Given the description of an element on the screen output the (x, y) to click on. 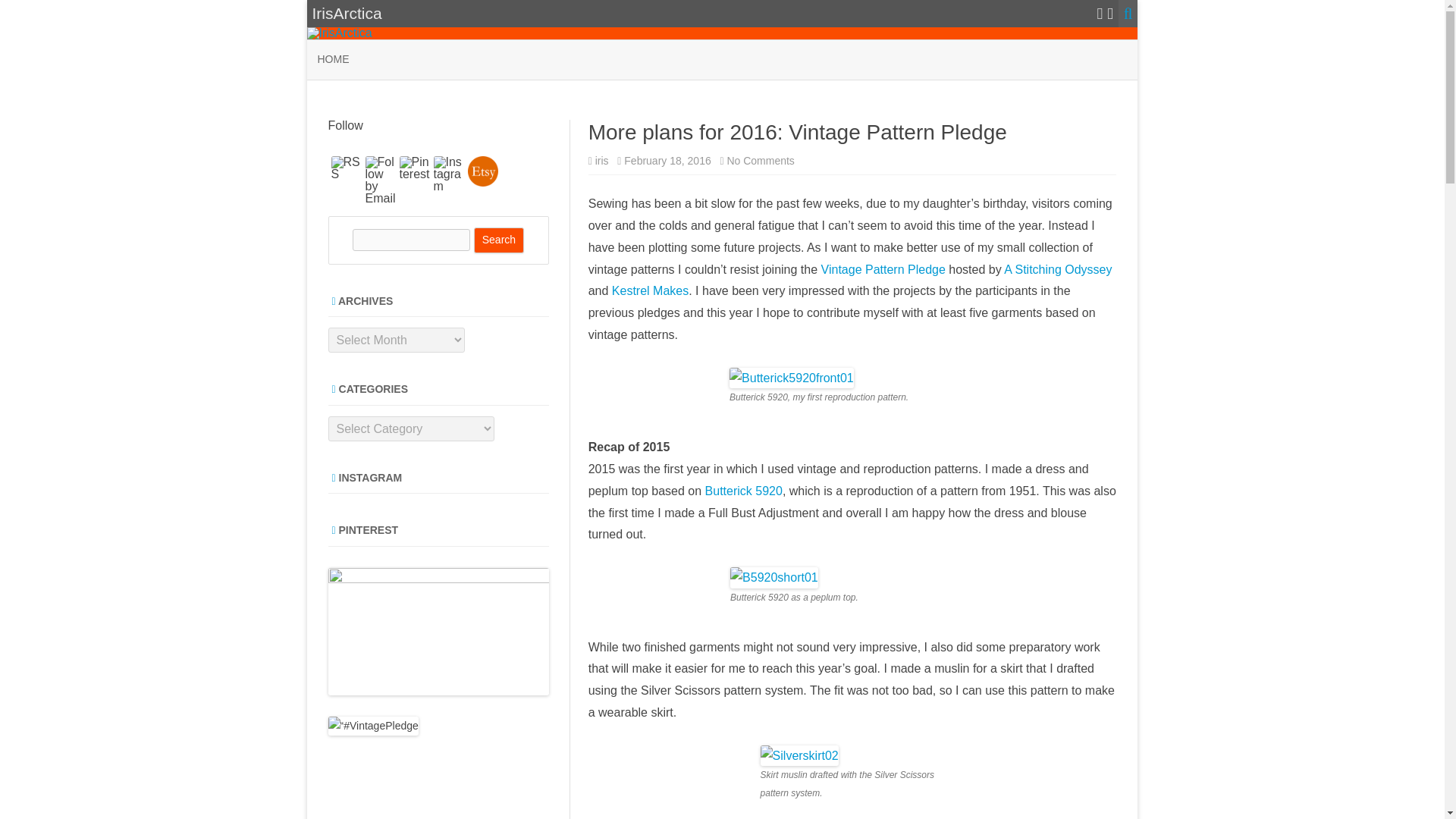
iris (601, 160)
Butterick 5920 (742, 490)
Pinterest (759, 160)
RSS (413, 168)
Vintage Pattern Pledge (345, 168)
Search (885, 269)
A Stitching Odyssey (499, 240)
